Given the description of an element on the screen output the (x, y) to click on. 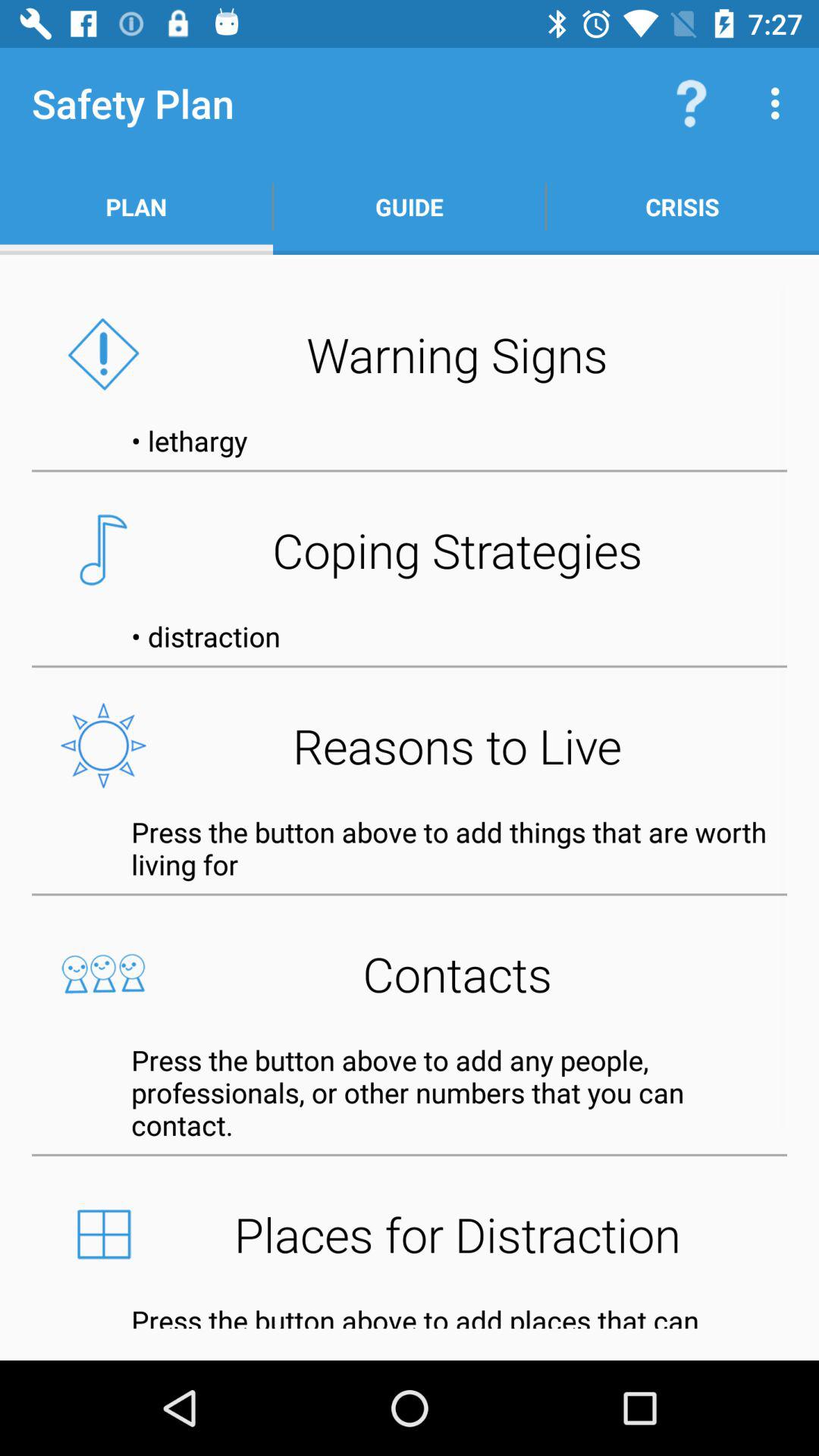
click on coping strategies (409, 549)
click on the question icon (691, 103)
